Given the description of an element on the screen output the (x, y) to click on. 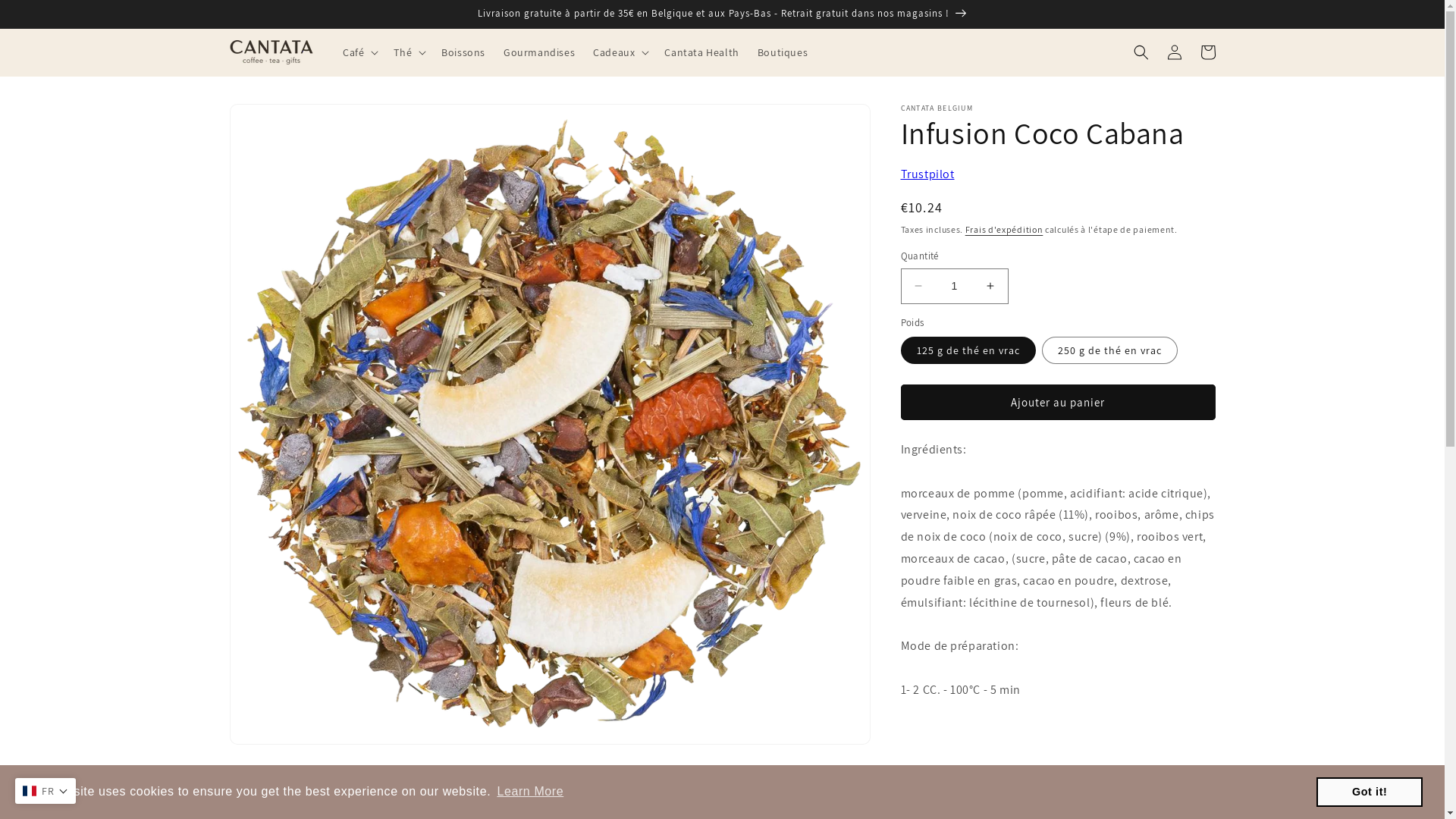
Passer aux informations produits Element type: text (275, 120)
Panier Element type: text (1206, 52)
Connexion Element type: text (1173, 52)
Got it! Element type: text (1369, 791)
Cantata Health Element type: text (701, 52)
Boutiques Element type: text (782, 52)
Learn More Element type: text (529, 791)
Trustpilot Element type: text (927, 174)
Boissons Element type: text (463, 52)
Ajouter au panier Element type: text (1057, 402)
Gourmandises Element type: text (538, 52)
